Given the description of an element on the screen output the (x, y) to click on. 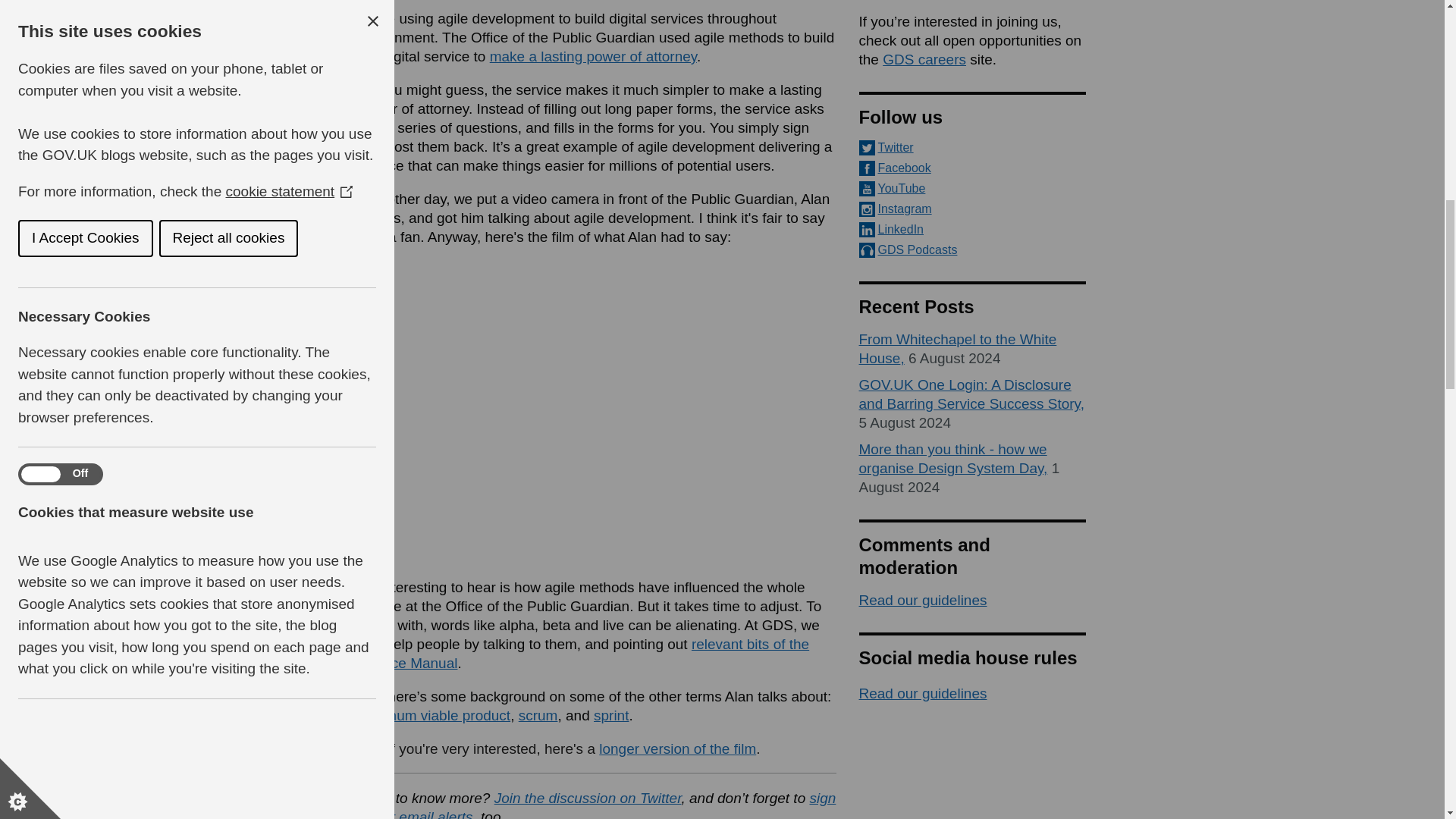
sign up for email alerts (596, 804)
make a lasting power of attorney (593, 56)
scrum (537, 715)
longer version of the film (676, 748)
relevant bits of the Service Manual (583, 653)
Join the discussion on Twitter (588, 797)
minimum viable product (434, 715)
sprint (611, 715)
